Given the description of an element on the screen output the (x, y) to click on. 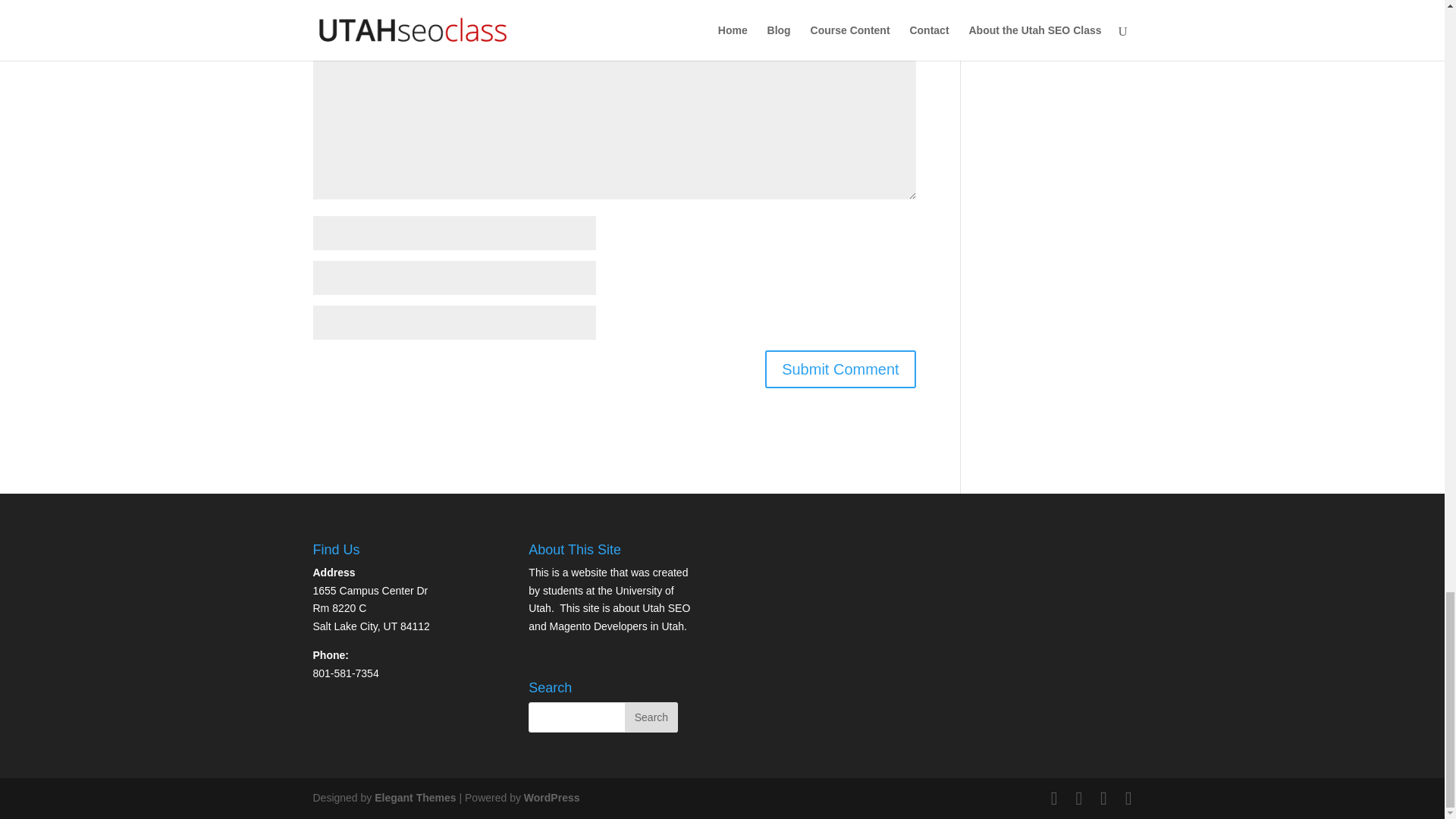
Premium WordPress Themes (414, 797)
Utah SEO (666, 607)
WordPress (551, 797)
Elegant Themes (414, 797)
Magento Developers in Utah (617, 625)
Search (651, 716)
Submit Comment (840, 369)
Search (651, 716)
Submit Comment (840, 369)
